Given the description of an element on the screen output the (x, y) to click on. 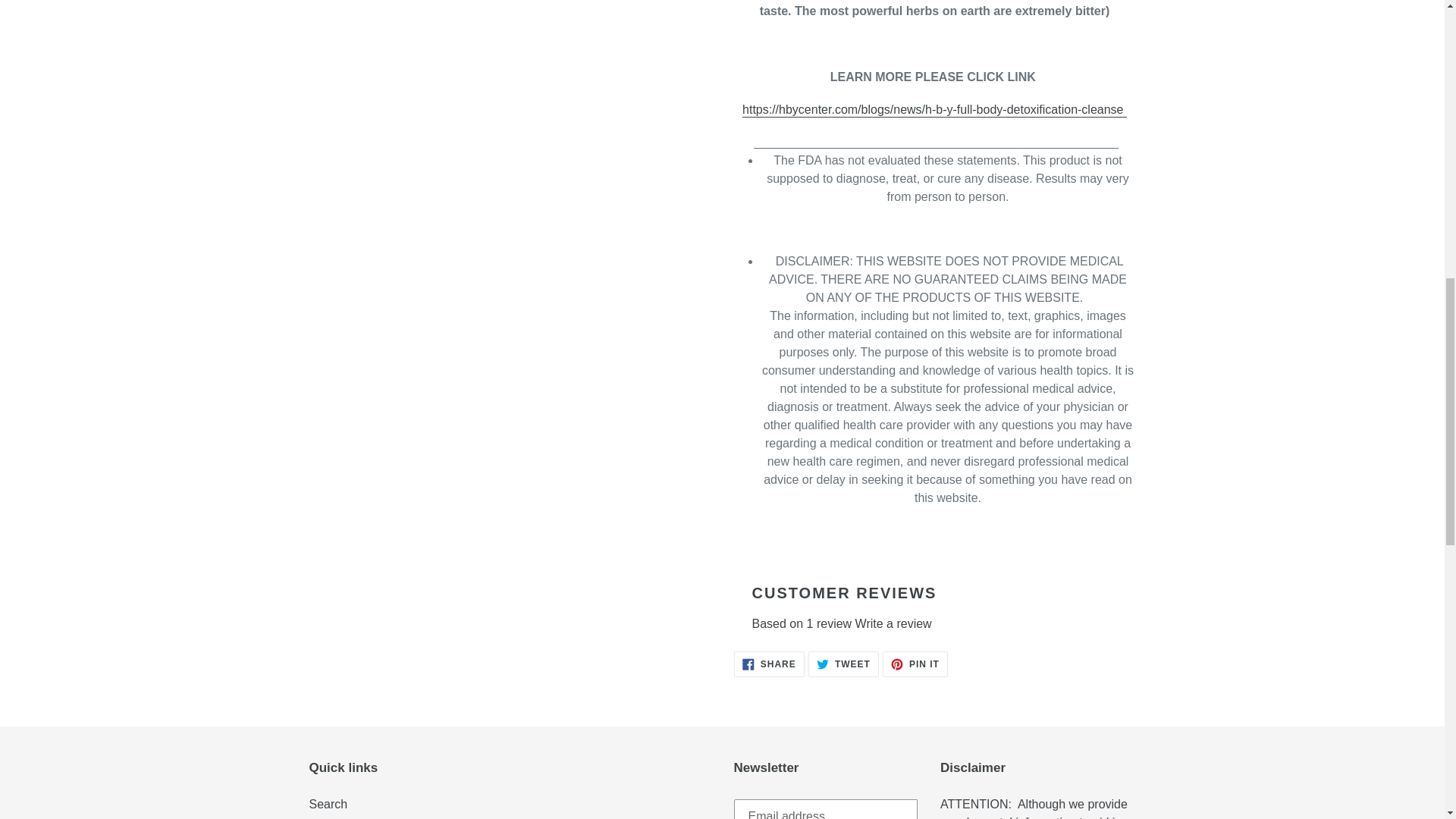
Write a review (843, 664)
Search (893, 623)
